Given the description of an element on the screen output the (x, y) to click on. 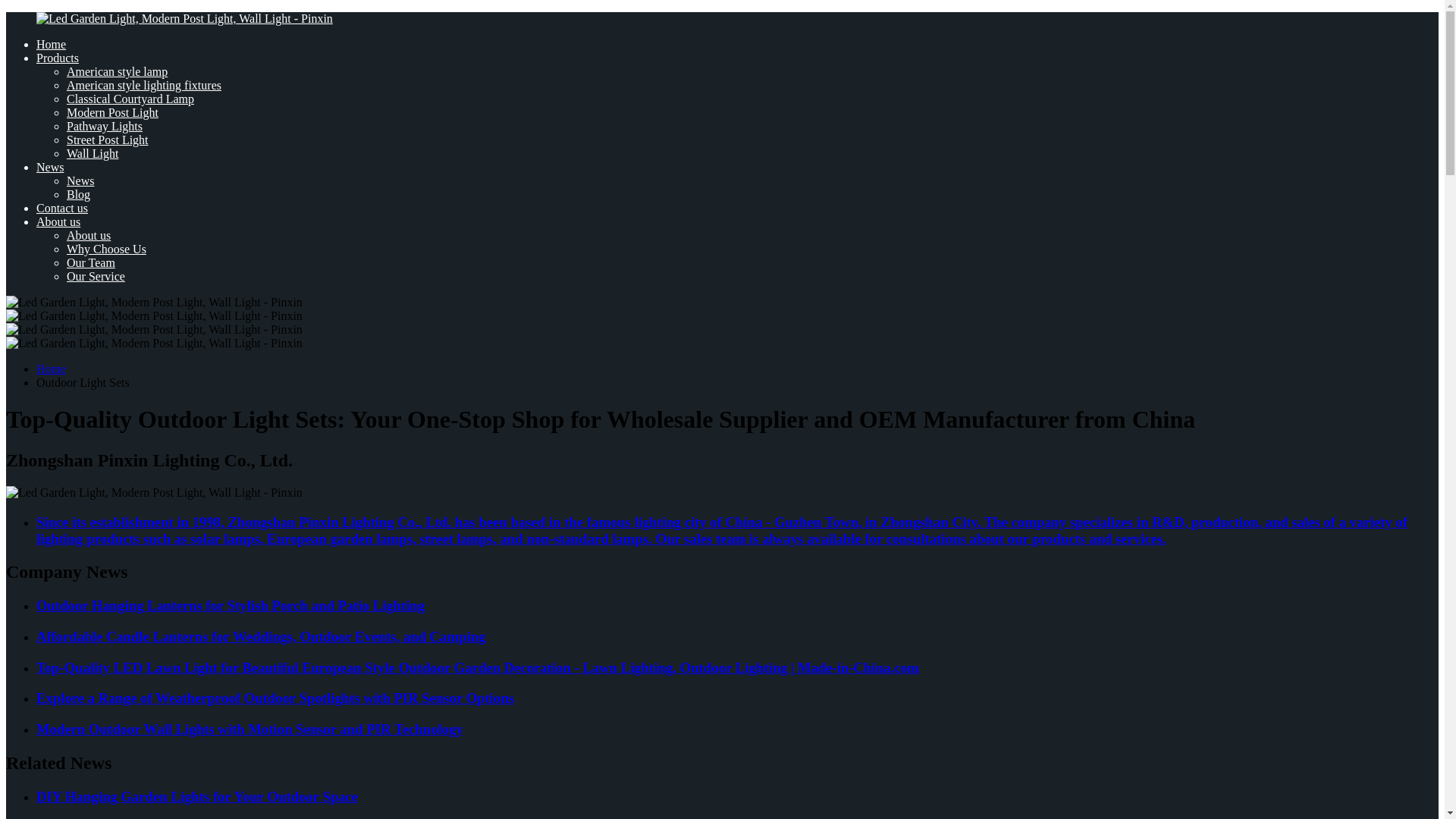
American style lamp (116, 71)
Our Team (90, 262)
Wall Light (91, 153)
Street Post Light (107, 139)
Pathway Lights (104, 125)
News (80, 180)
Classical Courtyard Lamp (129, 98)
Home (50, 43)
Blog (78, 194)
Home (50, 368)
About us (88, 235)
American style lighting fixtures (143, 84)
Our Service (95, 276)
Contact us (61, 207)
Products (57, 57)
